Given the description of an element on the screen output the (x, y) to click on. 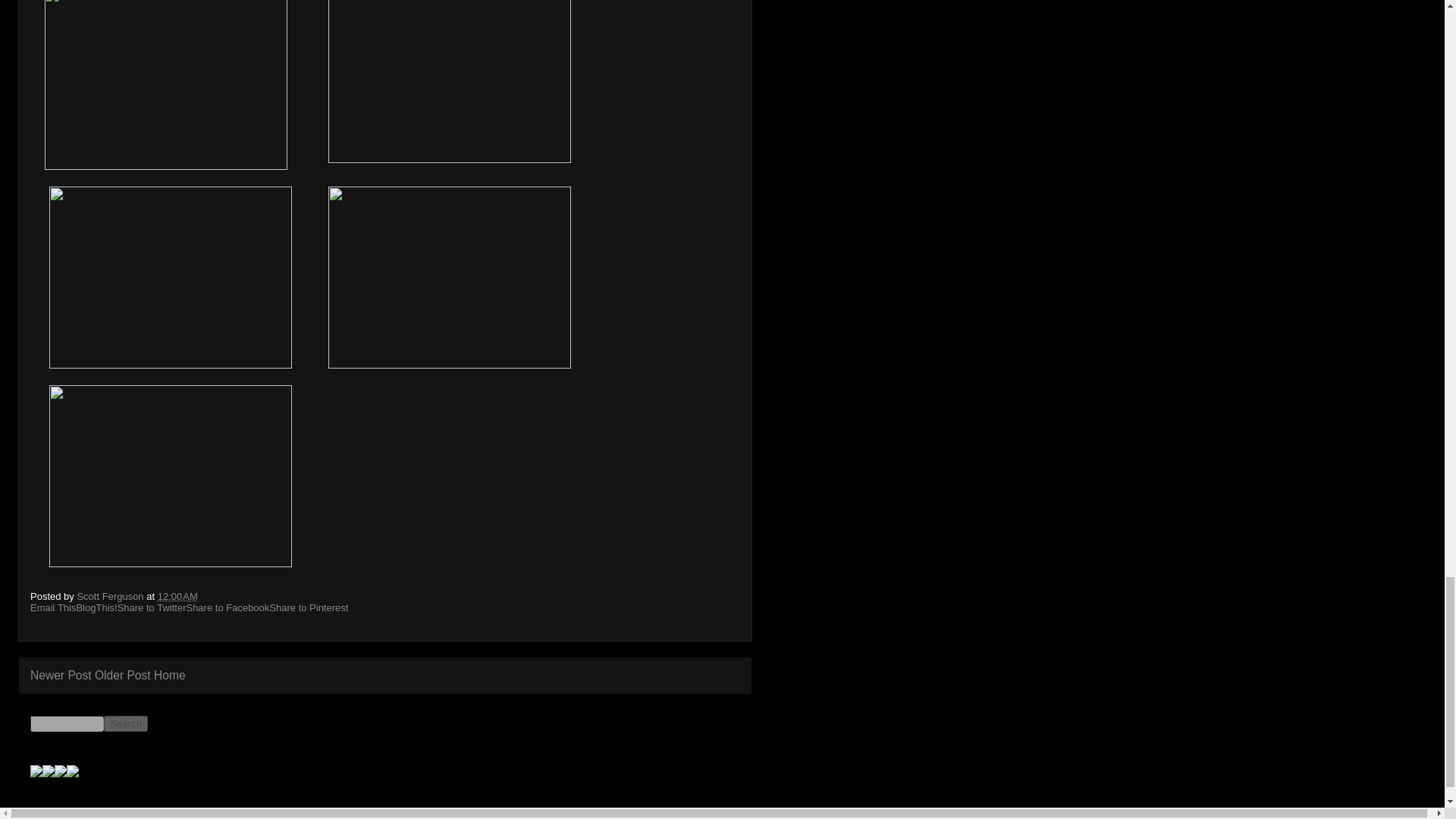
Older Post (122, 675)
Email This (52, 607)
Share to Twitter (151, 607)
author profile (112, 595)
Home (170, 675)
Share to Facebook (227, 607)
permanent link (177, 595)
Share to Pinterest (308, 607)
Email This (52, 607)
Search (125, 723)
